Given the description of an element on the screen output the (x, y) to click on. 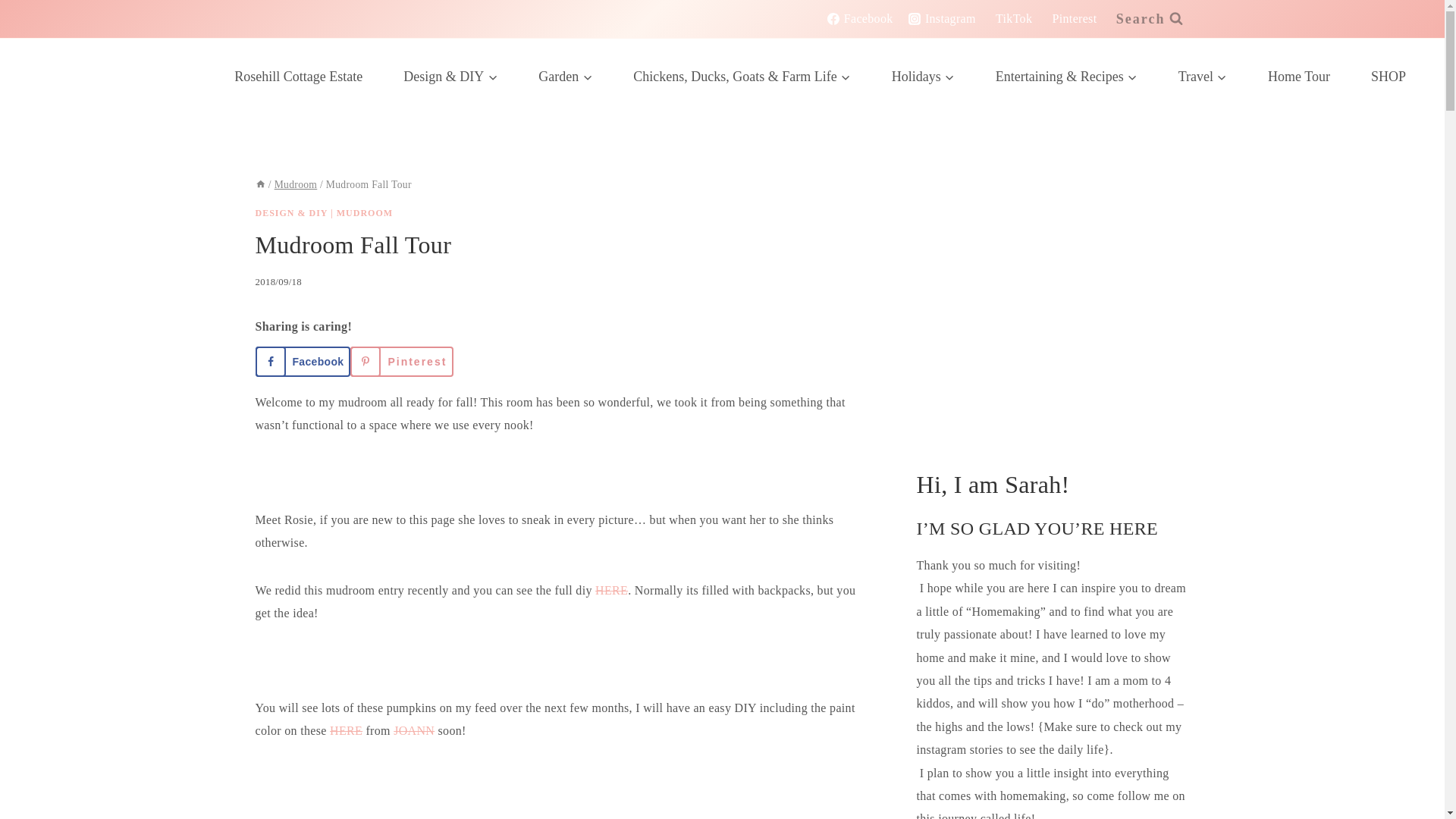
Pinterest (1072, 18)
Facebook (860, 18)
Home (259, 184)
Rosehill Cottage Estate (298, 76)
Share on Facebook (302, 361)
TikTok (1011, 18)
Garden (565, 76)
Instagram (940, 18)
Save to Pinterest (401, 361)
Search (1149, 18)
